Given the description of an element on the screen output the (x, y) to click on. 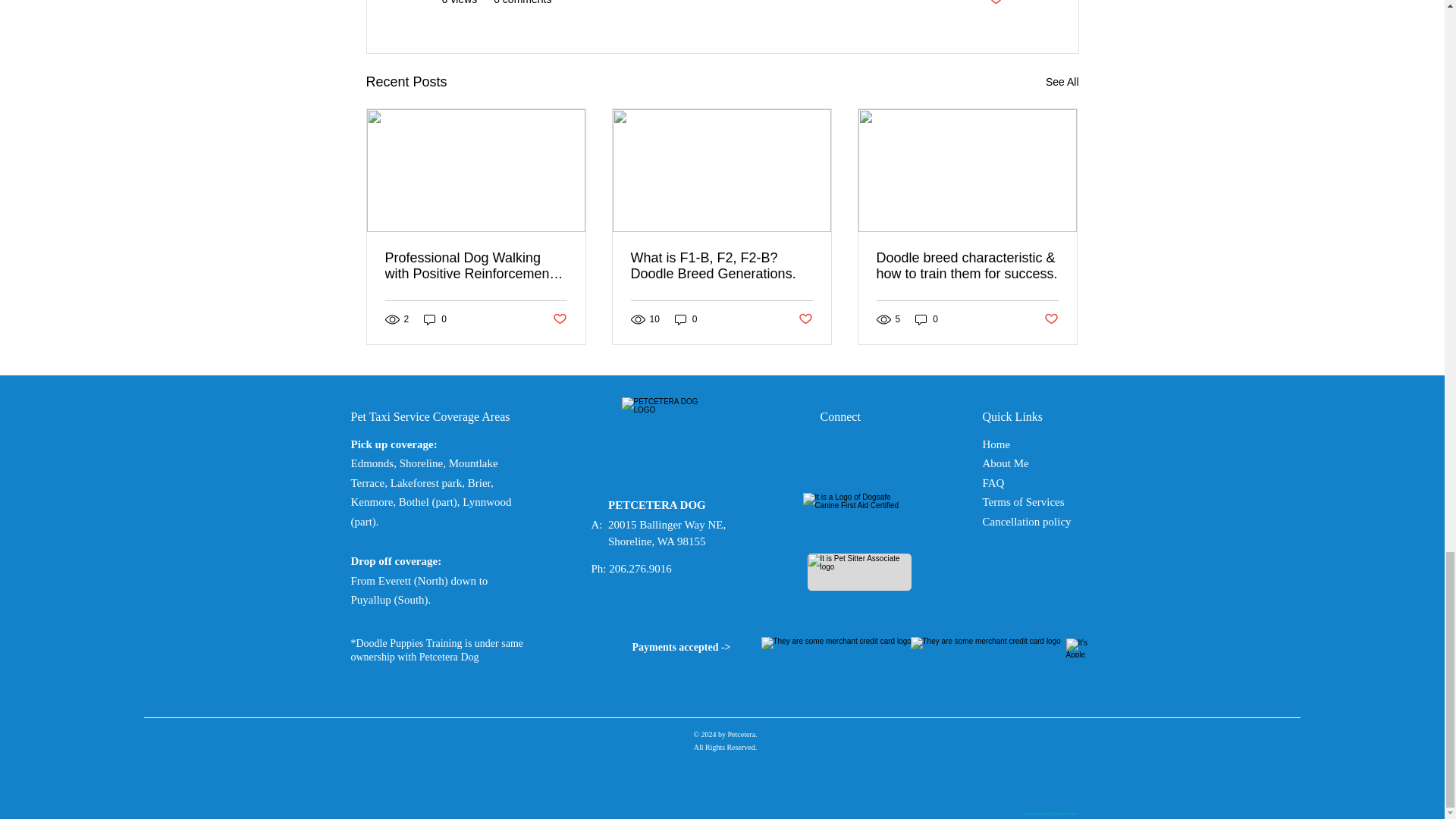
Post not marked as liked (558, 319)
0 (926, 319)
0 (685, 319)
Post not marked as liked (804, 319)
See All (1061, 82)
0 (435, 319)
Post not marked as liked (995, 3)
What is F1-B, F2, F2-B? Doodle Breed Generations. (721, 265)
